Given the description of an element on the screen output the (x, y) to click on. 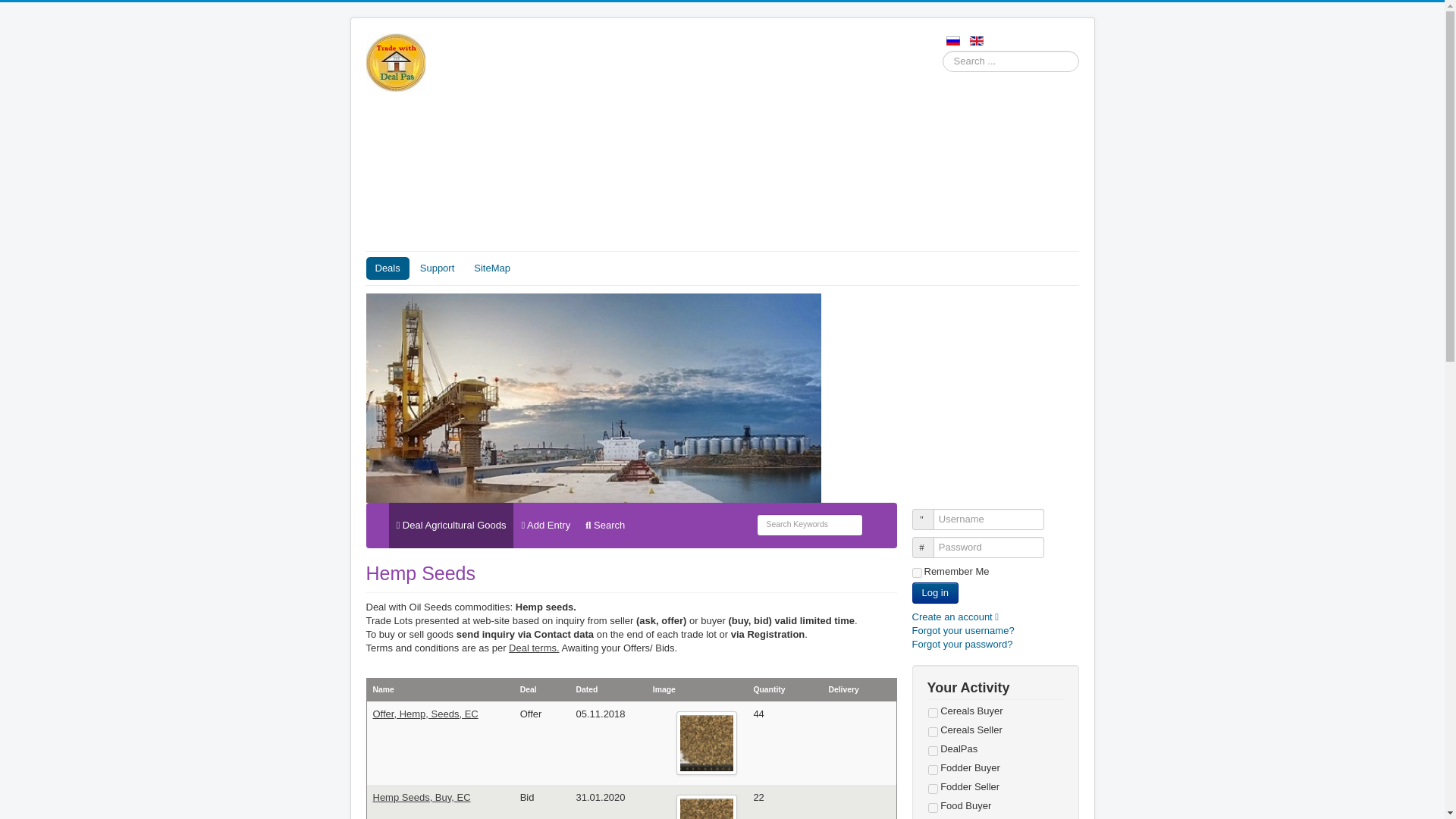
Advertisement (721, 174)
2 (932, 732)
7 (932, 808)
1 (932, 713)
6 (932, 788)
Support (437, 268)
yes (916, 573)
Deals (387, 268)
5 (932, 769)
4 (932, 750)
